Given the description of an element on the screen output the (x, y) to click on. 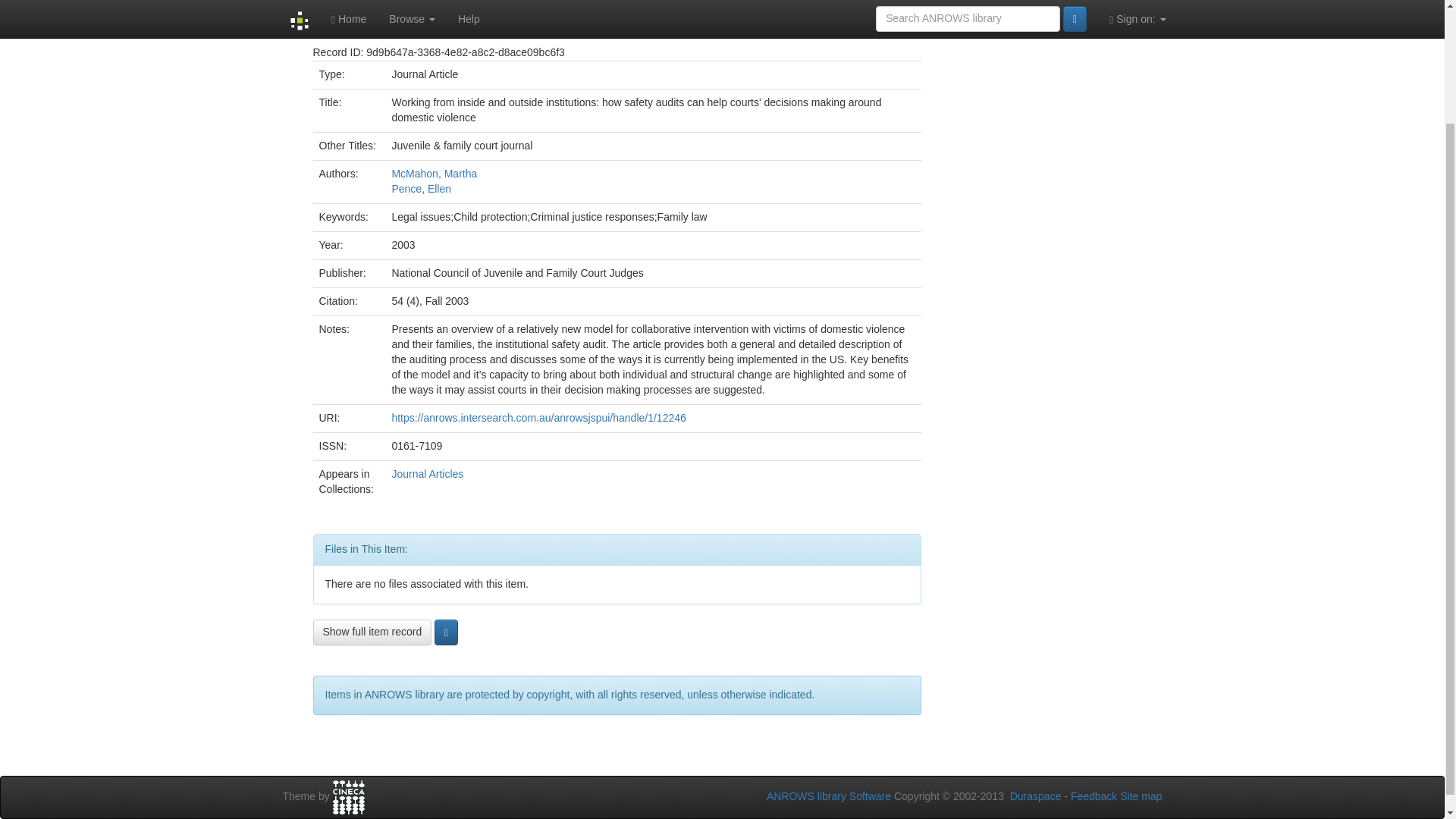
Journal Articles (427, 473)
ANROWS library Software (829, 796)
Google Scholar (1058, 0)
Who's citing (1058, 0)
McMahon, Martha (434, 173)
Feedback (1093, 796)
statistics link (955, 17)
Site map (1140, 796)
Show full item record (371, 632)
Pence, Ellen (421, 188)
